Given the description of an element on the screen output the (x, y) to click on. 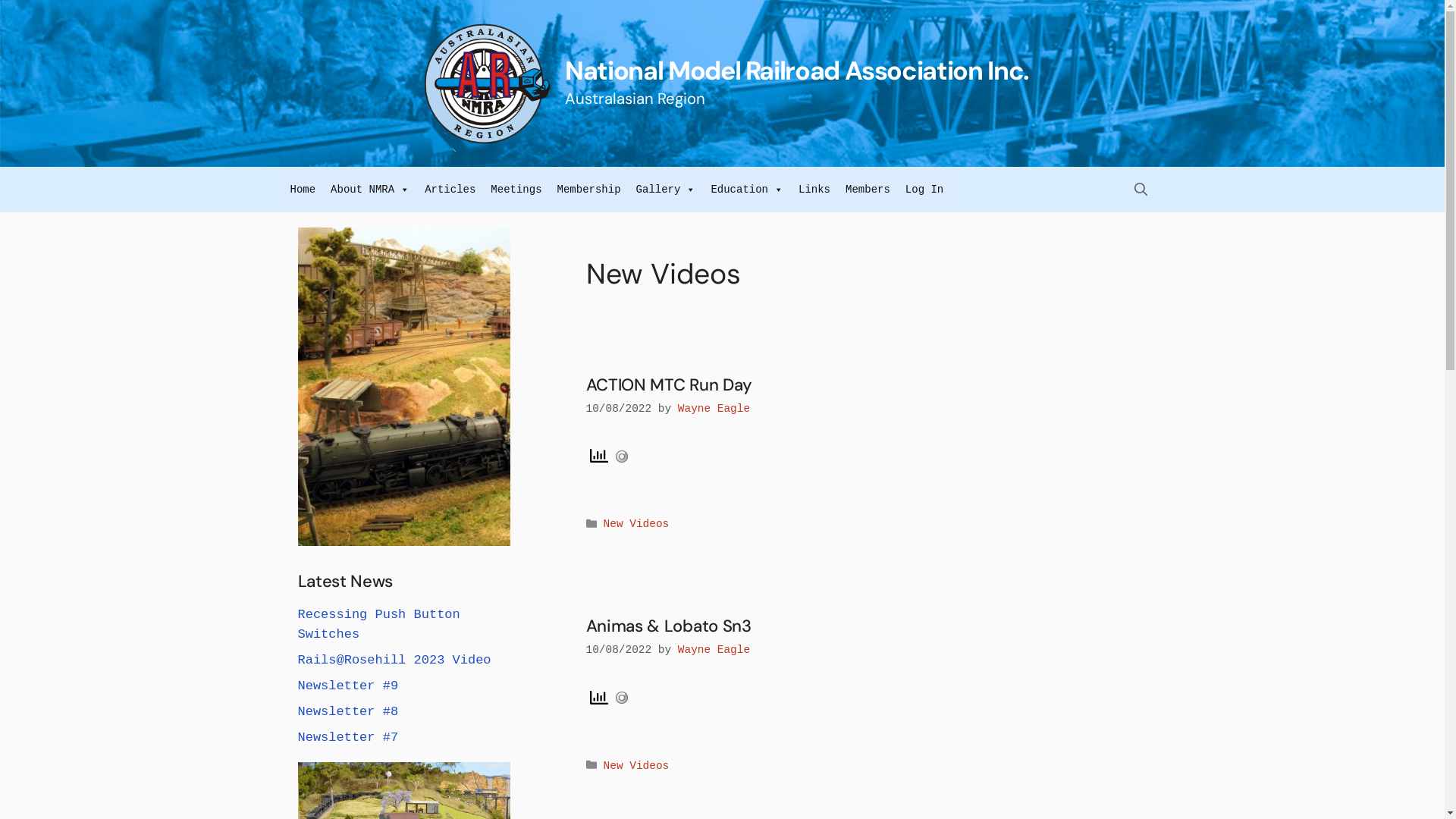
Articles Element type: text (450, 189)
Rails@Rosehill 2023 Video Element type: text (393, 659)
Meetings Element type: text (516, 189)
Home Element type: text (302, 189)
Membership Element type: text (588, 189)
ACTION MTC Run Day Element type: text (668, 384)
National Model Railroad Association Inc. Element type: text (796, 70)
Log In Element type: text (923, 189)
Animas & Lobato Sn3 Element type: text (667, 626)
New Videos Element type: text (636, 524)
Gallery Element type: text (665, 189)
Newsletter #7 Element type: text (347, 737)
Newsletter #9 Element type: text (347, 685)
Links Element type: text (813, 189)
Members Element type: text (867, 189)
Wayne Eagle Element type: text (713, 649)
Newsletter #8 Element type: text (347, 711)
New Videos Element type: text (636, 765)
Recessing Push Button Switches Element type: text (378, 624)
Education Element type: text (746, 189)
Wayne Eagle Element type: text (713, 408)
About NMRA Element type: text (370, 189)
